Given the description of an element on the screen output the (x, y) to click on. 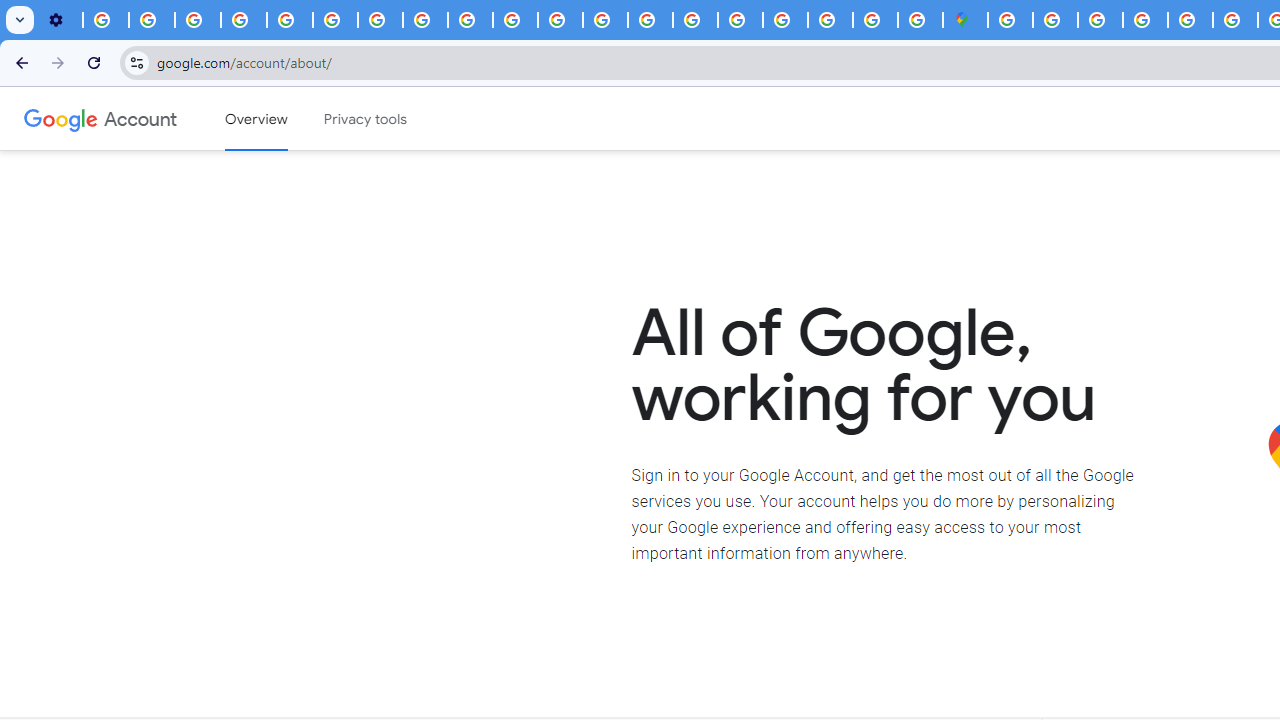
Google Account overview (256, 119)
Delete photos & videos - Computer - Google Photos Help (106, 20)
Privacy Help Center - Policies Help (290, 20)
Sign in - Google Accounts (1055, 20)
Skip to Content (285, 115)
YouTube (335, 20)
Google Account (140, 118)
Privacy Help Center - Policies Help (605, 20)
Terms and Conditions (1190, 20)
Forward (57, 62)
Privacy Checkup (470, 20)
